Given the description of an element on the screen output the (x, y) to click on. 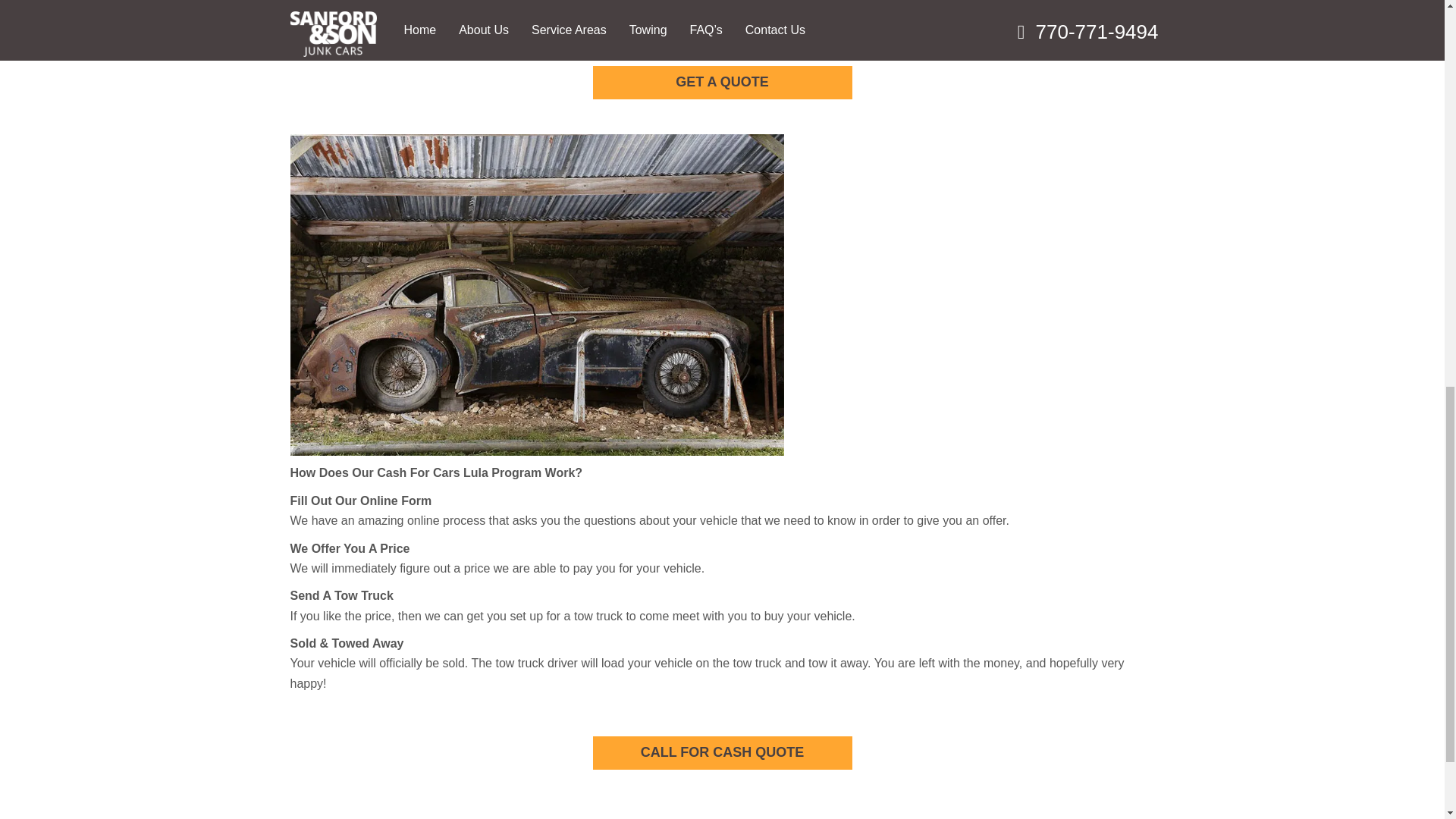
CALL FOR CASH QUOTE (721, 752)
GET A QUOTE (721, 82)
CALL FOR CASH QUOTE (721, 752)
GET A QUOTE (721, 82)
